Given the description of an element on the screen output the (x, y) to click on. 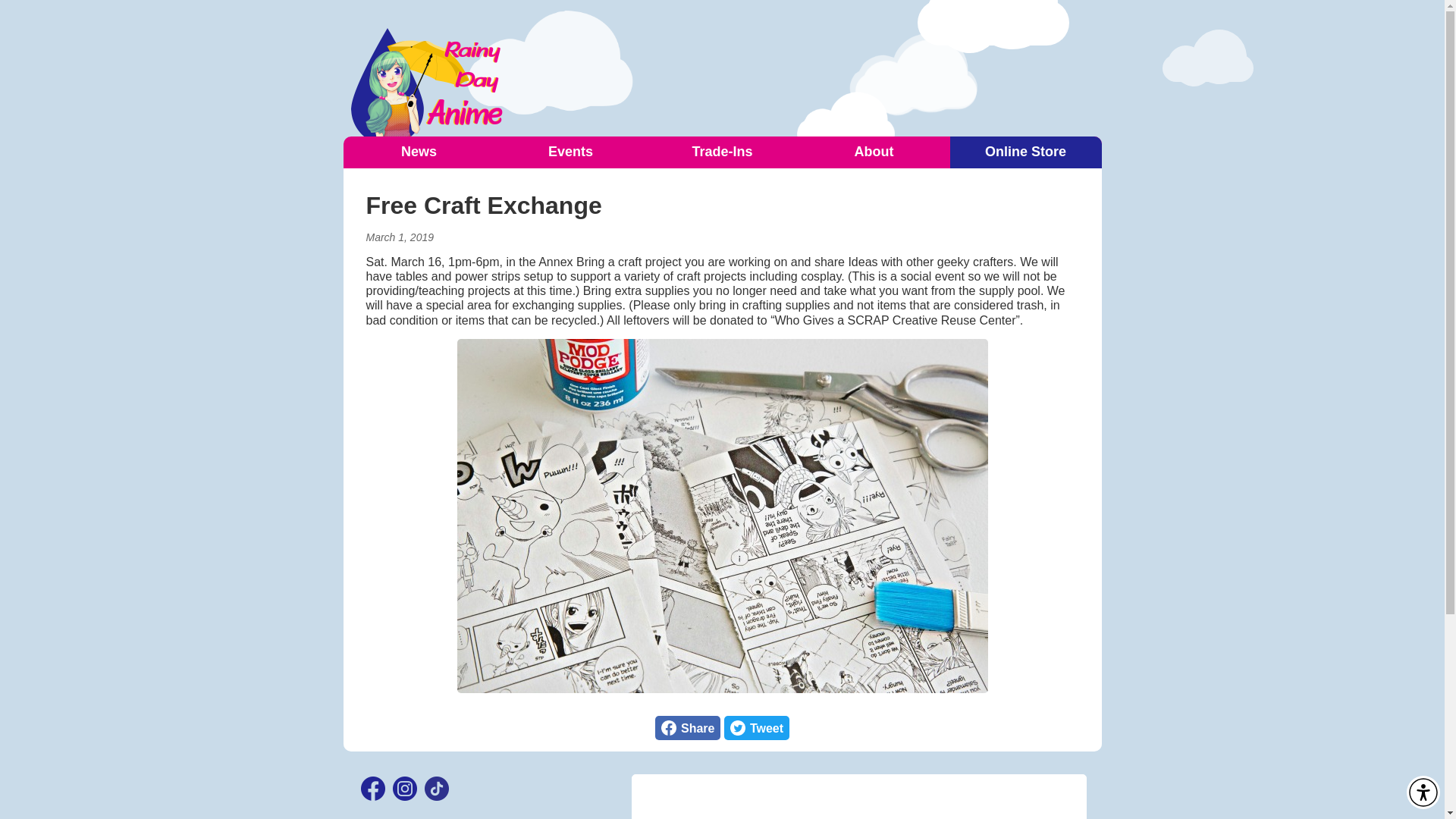
About (873, 152)
Events (687, 727)
News (570, 152)
Accessibility Menu (418, 152)
Trade-Ins (756, 727)
